Given the description of an element on the screen output the (x, y) to click on. 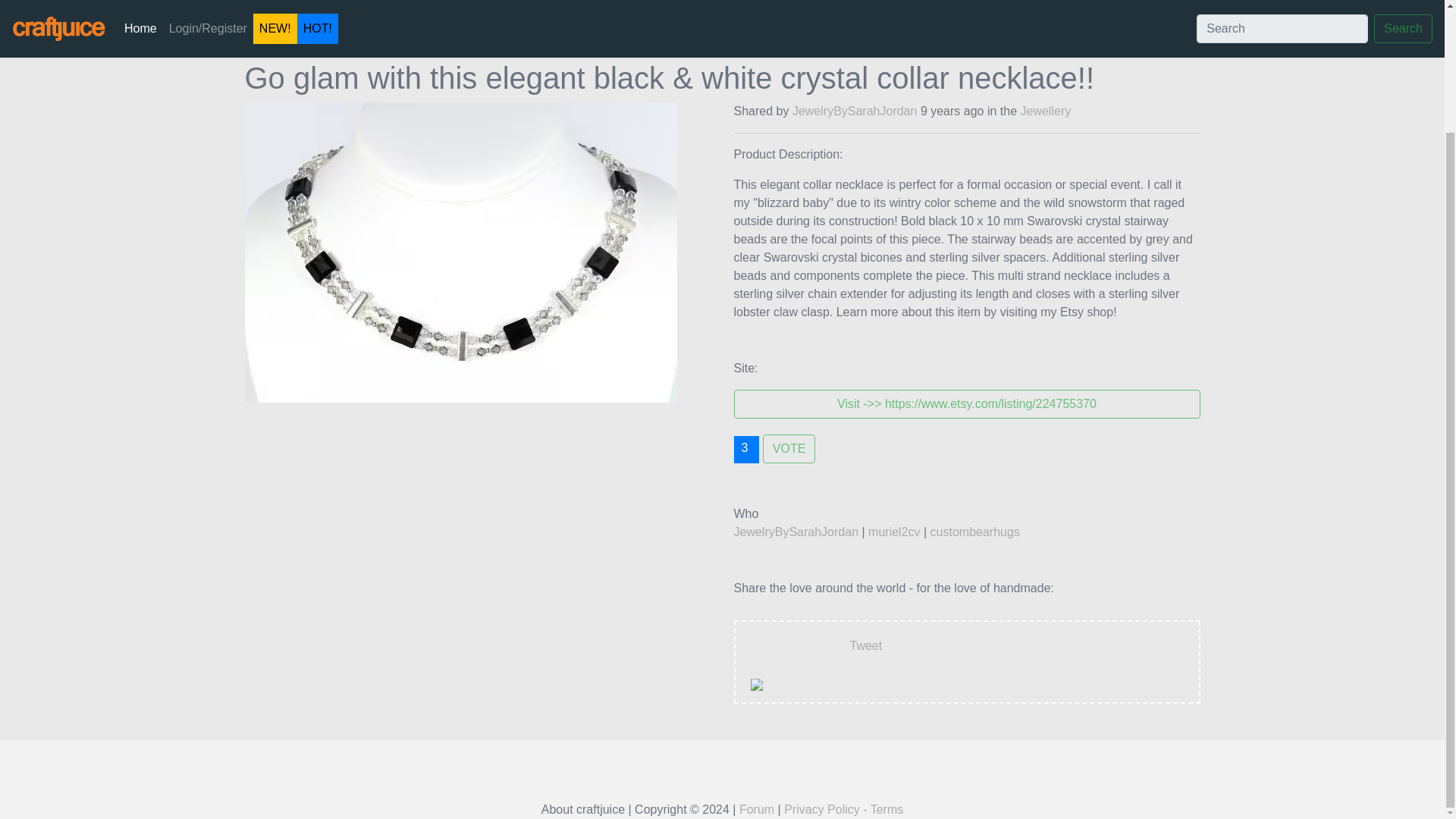
JewelryBySarahJordan (854, 110)
custombearhugs (975, 531)
Jewellery (1045, 110)
JewelryBySarahJordan (796, 531)
Jewellery (320, 29)
VOTE (788, 448)
muriel2cv (893, 531)
